Given the description of an element on the screen output the (x, y) to click on. 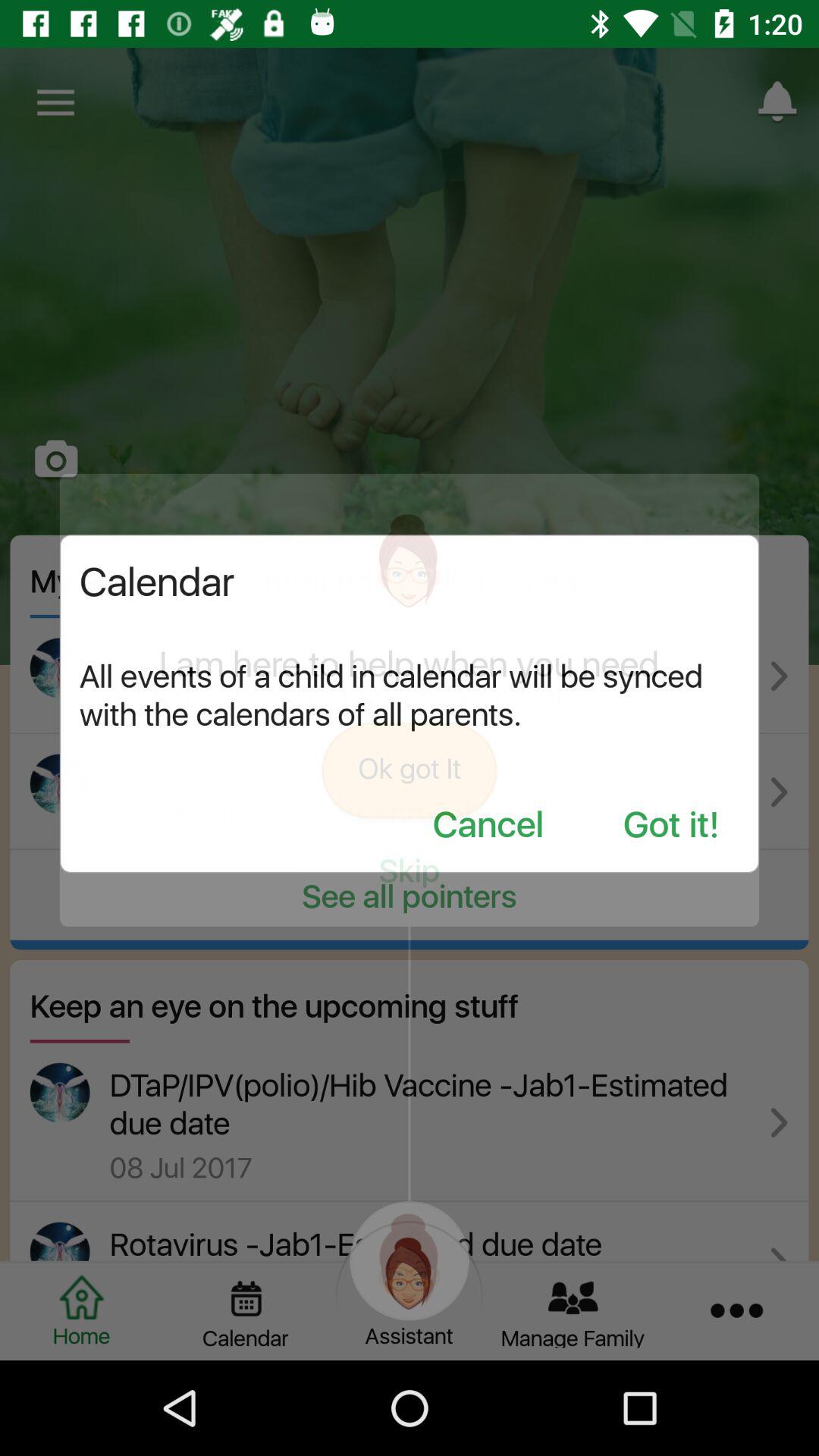
launch icon to the left of the got it! item (487, 826)
